Given the description of an element on the screen output the (x, y) to click on. 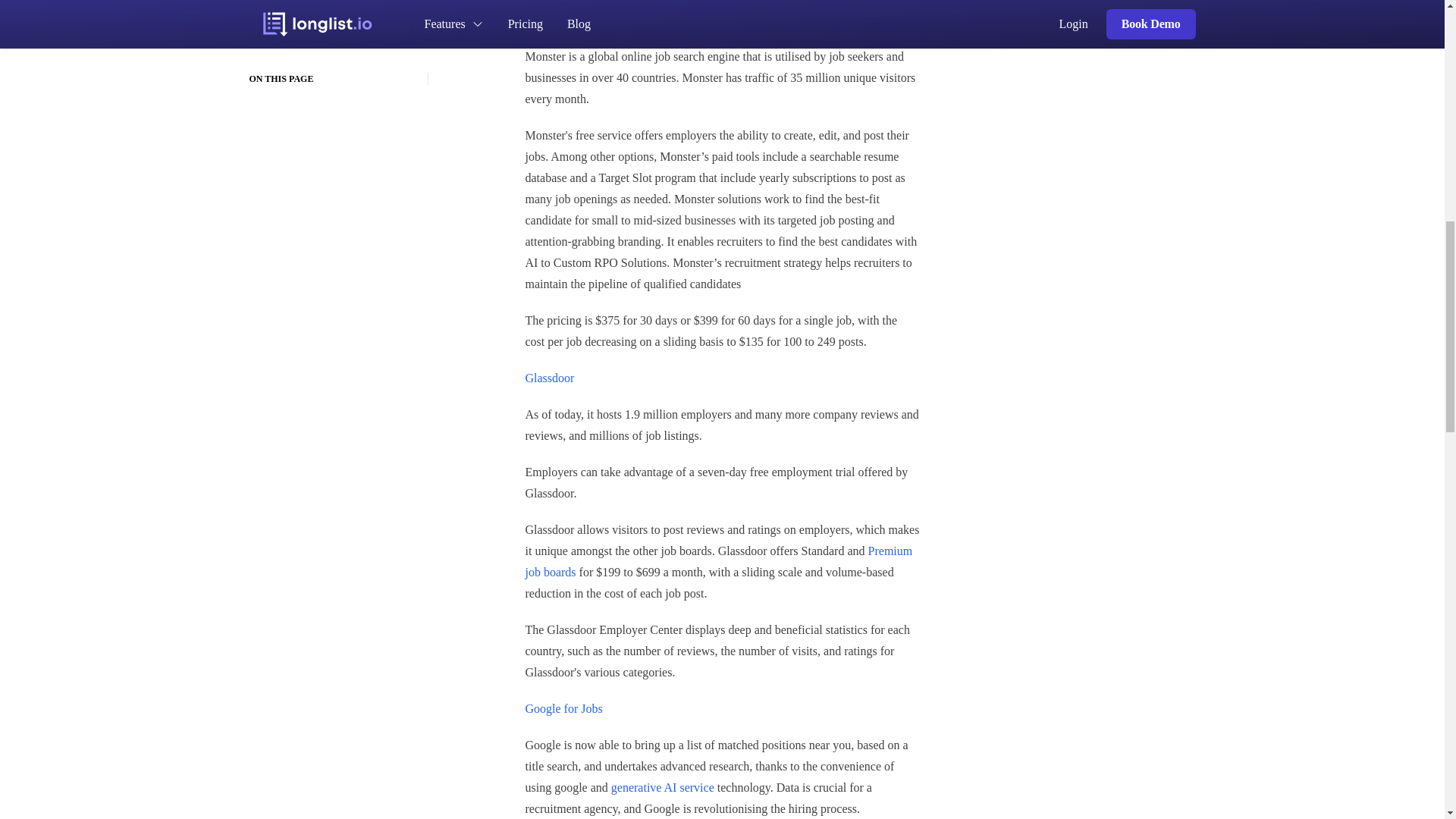
Premium job boards (718, 561)
Glassdoor (548, 377)
generative AI service (662, 787)
Google for Jobs (563, 707)
Monster (544, 19)
